Given the description of an element on the screen output the (x, y) to click on. 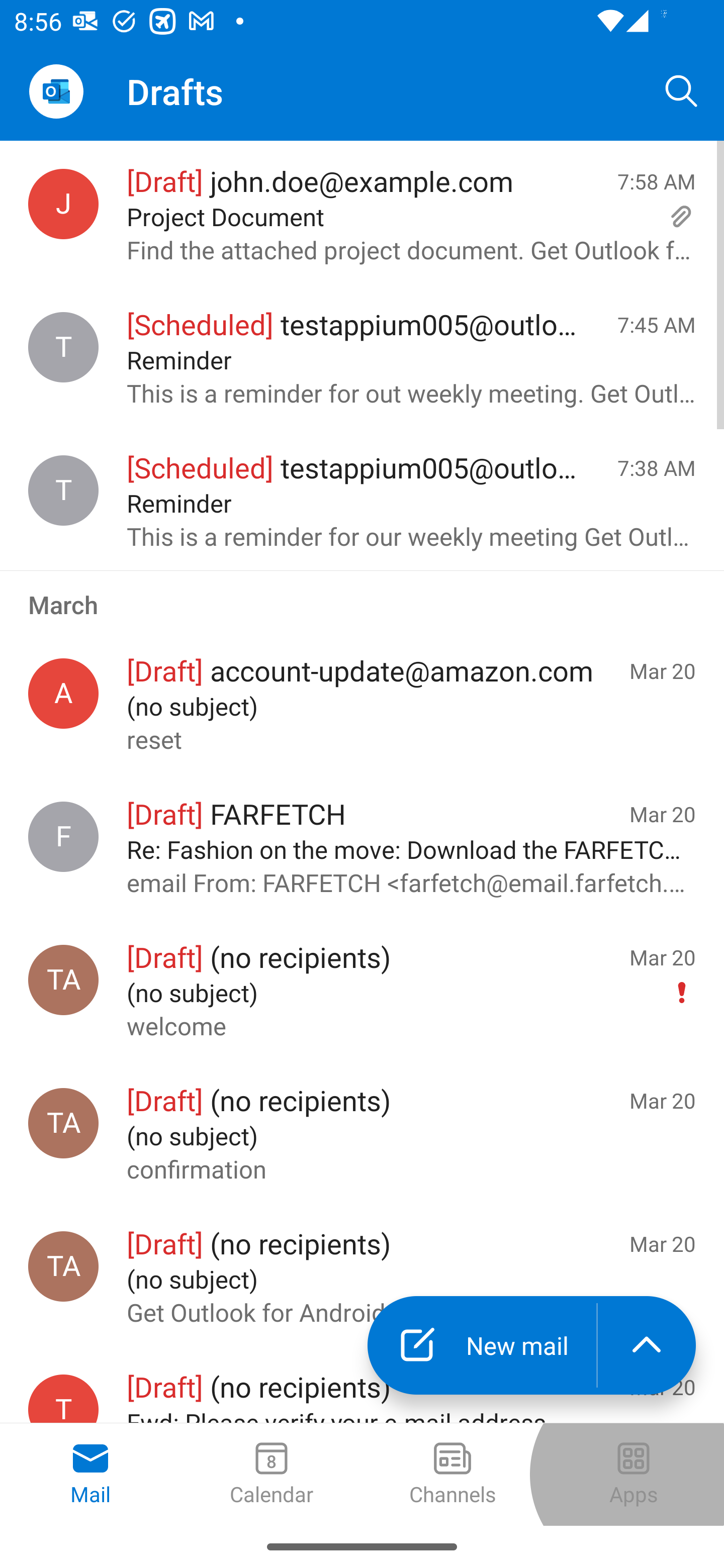
Search, ,  (681, 90)
Open Navigation Drawer (55, 91)
john.doe@example.com, testappium002@outlook.com (63, 204)
account-update@amazon.com (63, 693)
FARFETCH, testappium002@outlook.com (63, 836)
Test Appium, testappium002@outlook.com (63, 979)
Test Appium, testappium002@outlook.com (63, 1123)
Test Appium, testappium002@outlook.com (63, 1265)
New mail (481, 1344)
launch the extended action menu (646, 1344)
